Given the description of an element on the screen output the (x, y) to click on. 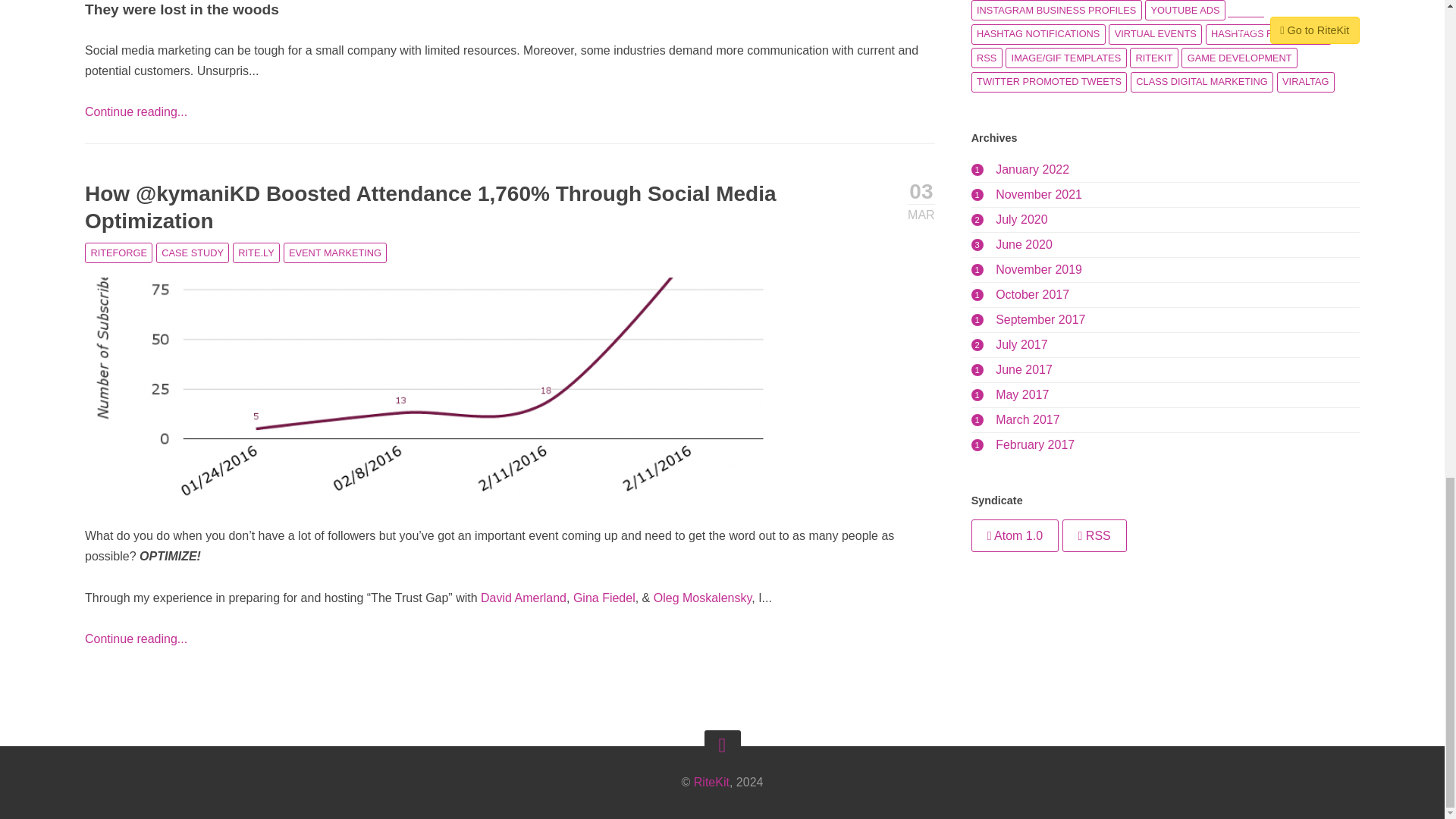
Gina Fiedel (603, 597)
CASE STUDY (192, 252)
David Amerland (523, 597)
Continue reading... (135, 638)
Continue reading... (135, 111)
Oleg Moskalensky (702, 597)
RITE.LY (255, 252)
RITEFORGE (118, 252)
EVENT MARKETING (335, 252)
